Given the description of an element on the screen output the (x, y) to click on. 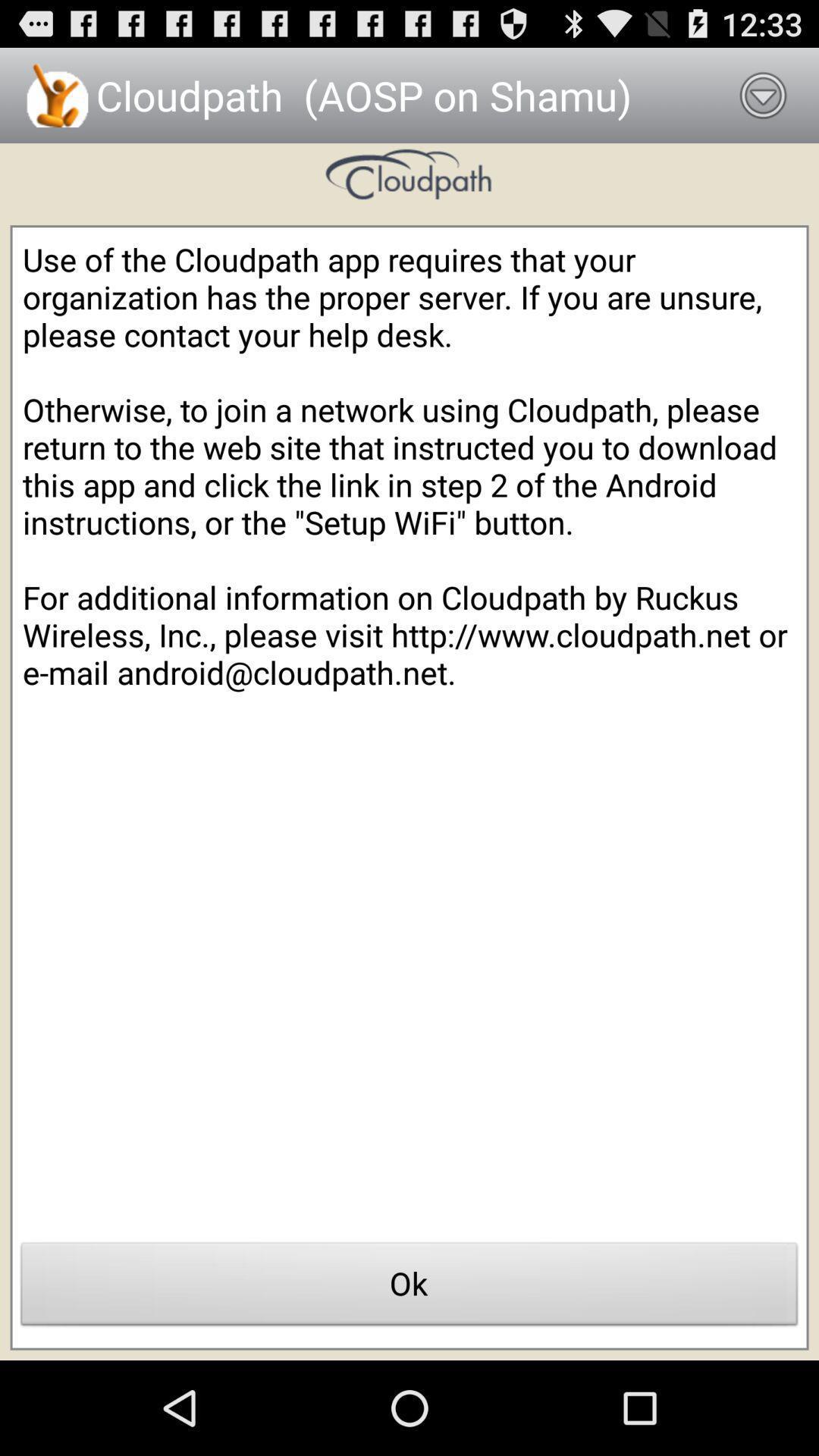
press the item next to cloudpath aosp on icon (763, 95)
